Given the description of an element on the screen output the (x, y) to click on. 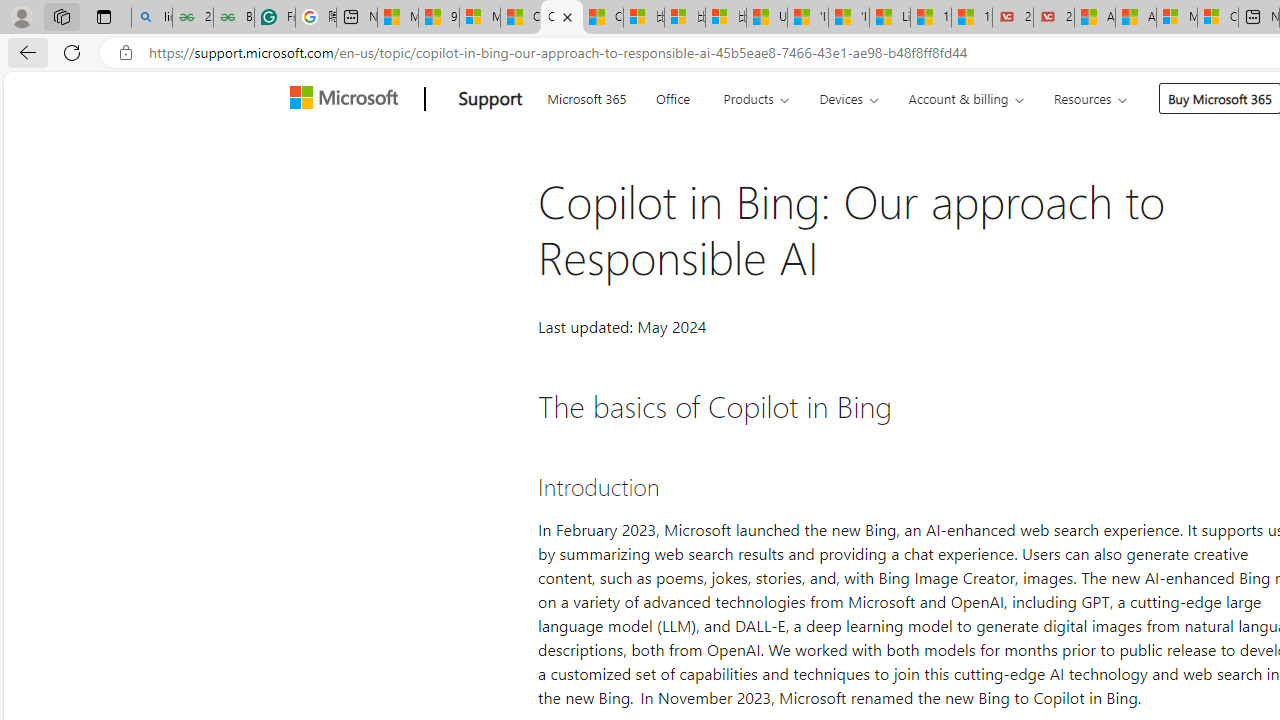
Lifestyle - MSN (890, 17)
USA TODAY - MSN (767, 17)
21 Movies That Outdid the Books They Were Based On (1053, 17)
